Given the description of an element on the screen output the (x, y) to click on. 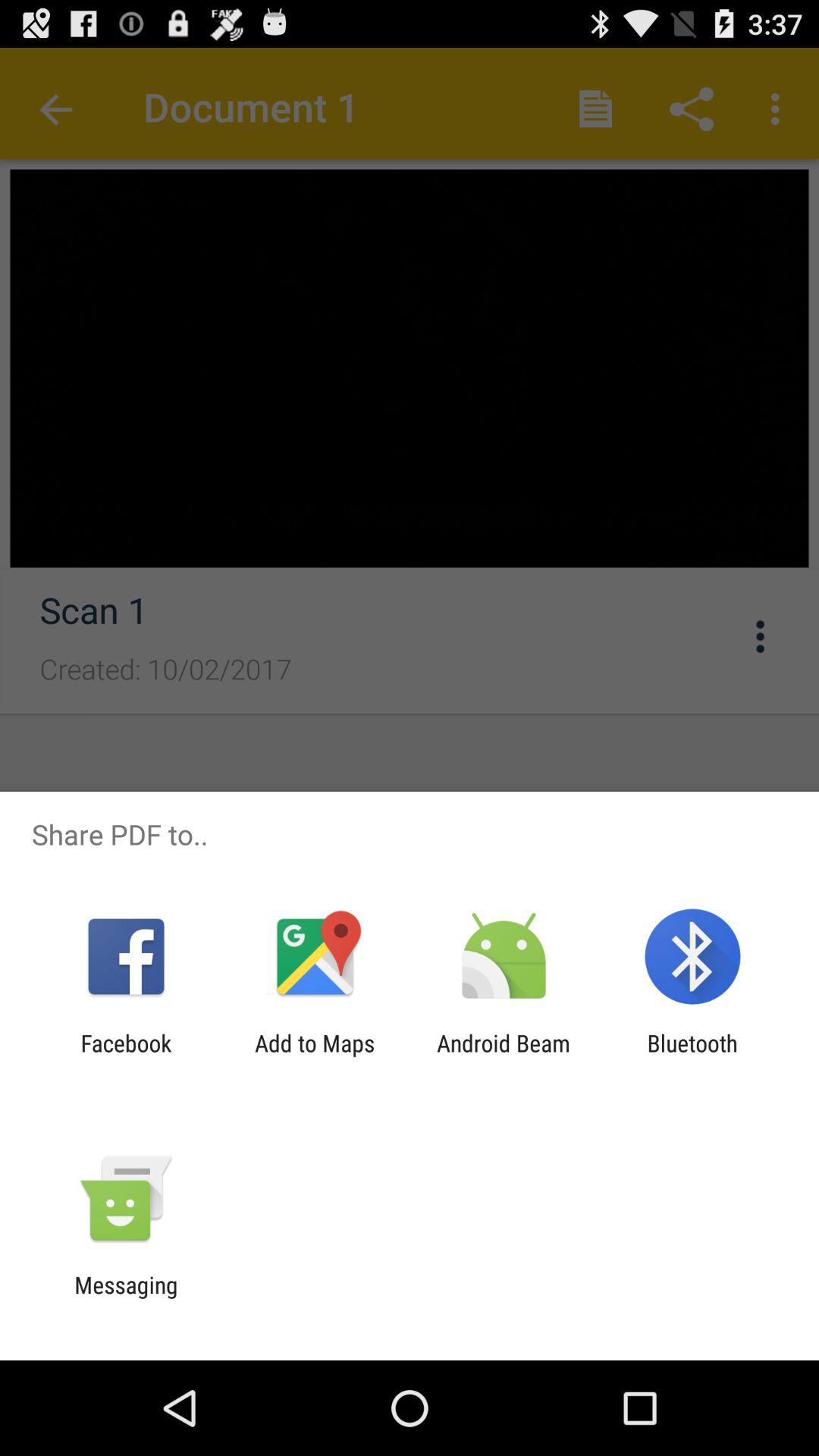
press the icon next to the bluetooth (503, 1056)
